Given the description of an element on the screen output the (x, y) to click on. 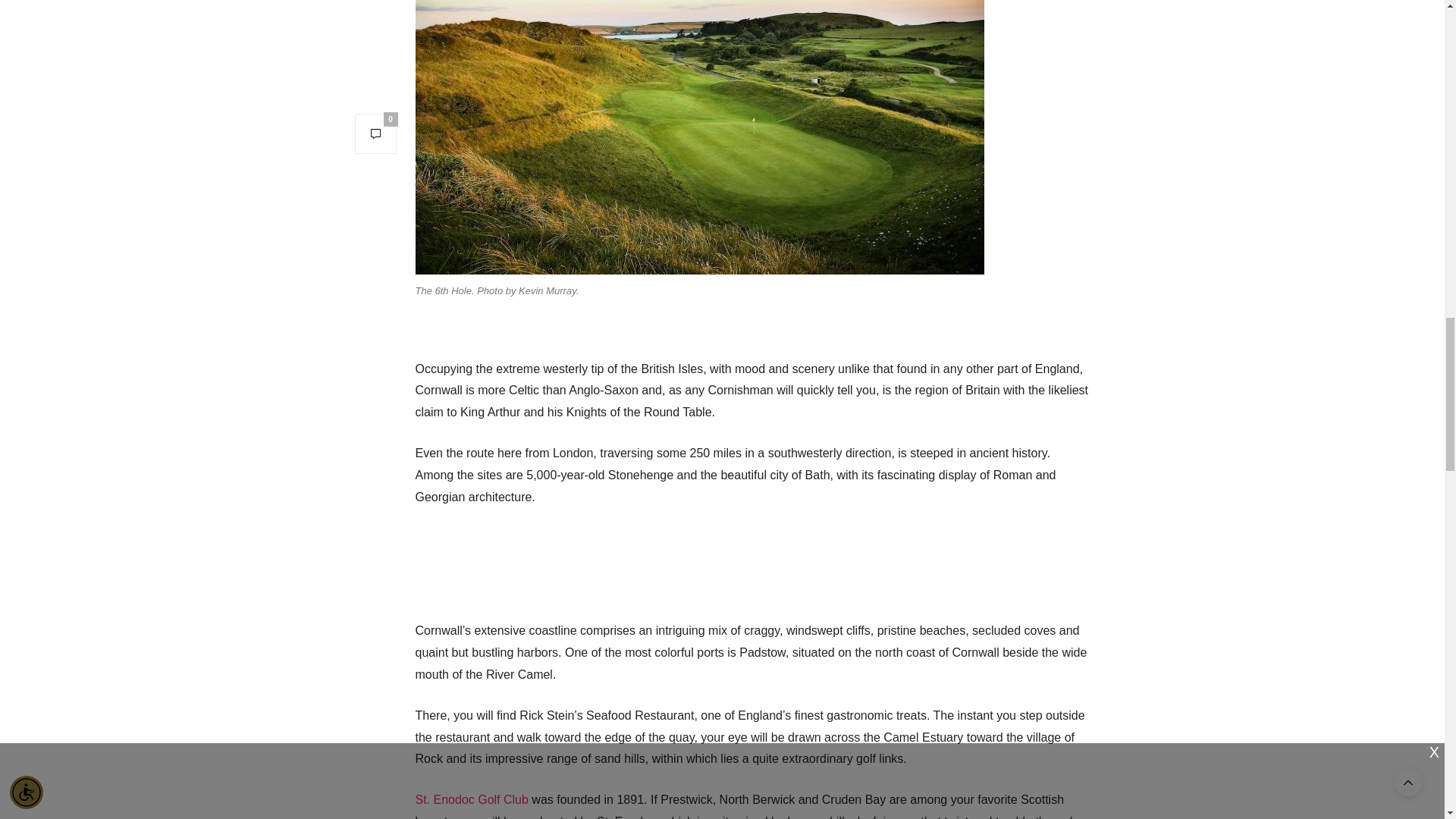
3rd party ad content (751, 561)
